Given the description of an element on the screen output the (x, y) to click on. 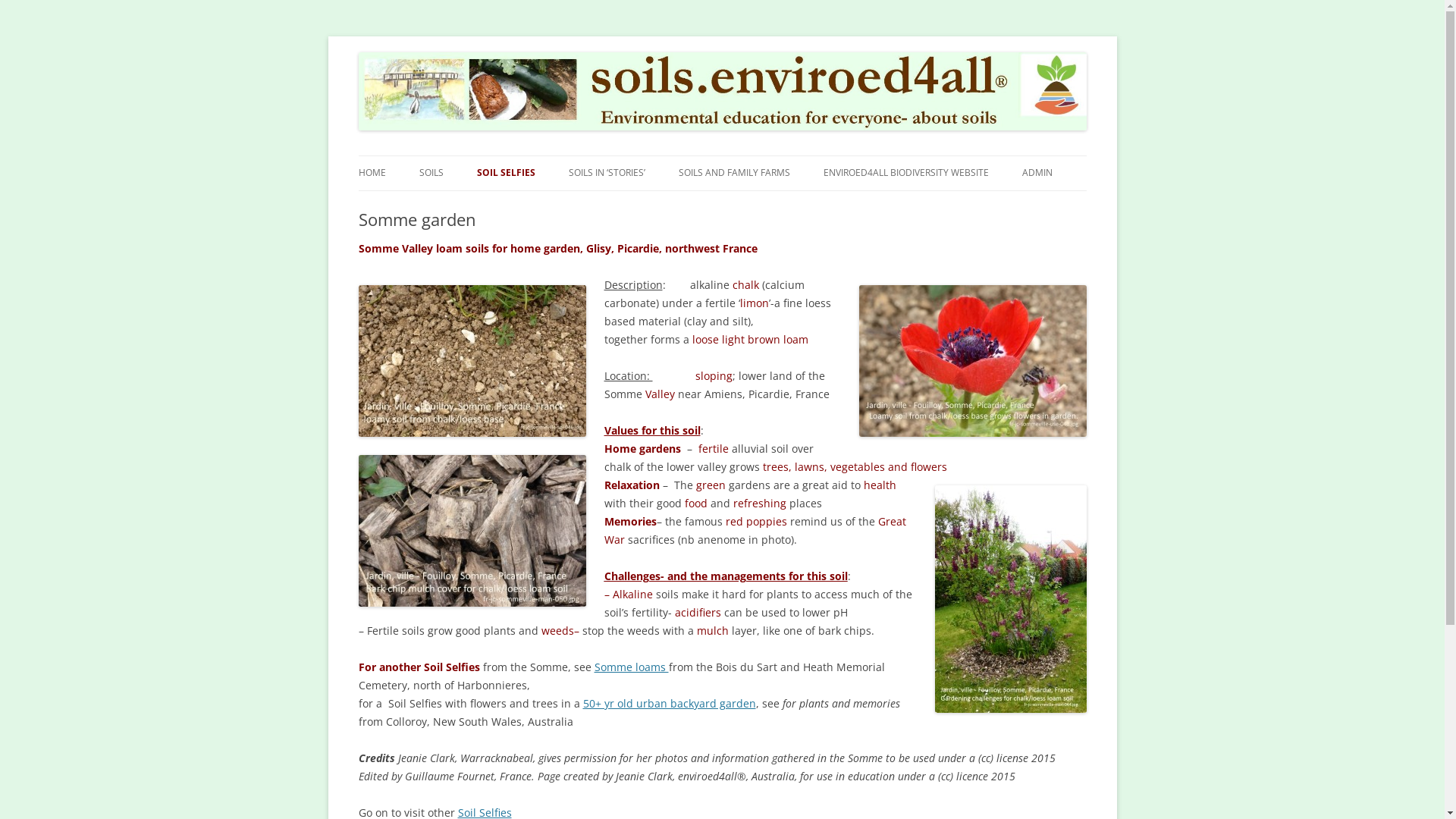
SOILS Element type: text (430, 172)
SOIL SELFIES Element type: text (505, 172)
Skip to content Element type: text (759, 160)
SNOOPING INTO SOILS Element type: text (644, 204)
SOILS AND FAMILY FARMS Element type: text (733, 172)
soils.enviroed4all.com.au Element type: text (481, 59)
Somme loams Element type: text (631, 666)
HOME Element type: text (371, 172)
ENVIROED4ALL BIODIVERSITY WEBSITE Element type: text (905, 172)
ADMIN Element type: text (1037, 172)
LOCATIONS Element type: text (551, 204)
50+ yr old urban backyard garden Element type: text (668, 703)
